Given the description of an element on the screen output the (x, y) to click on. 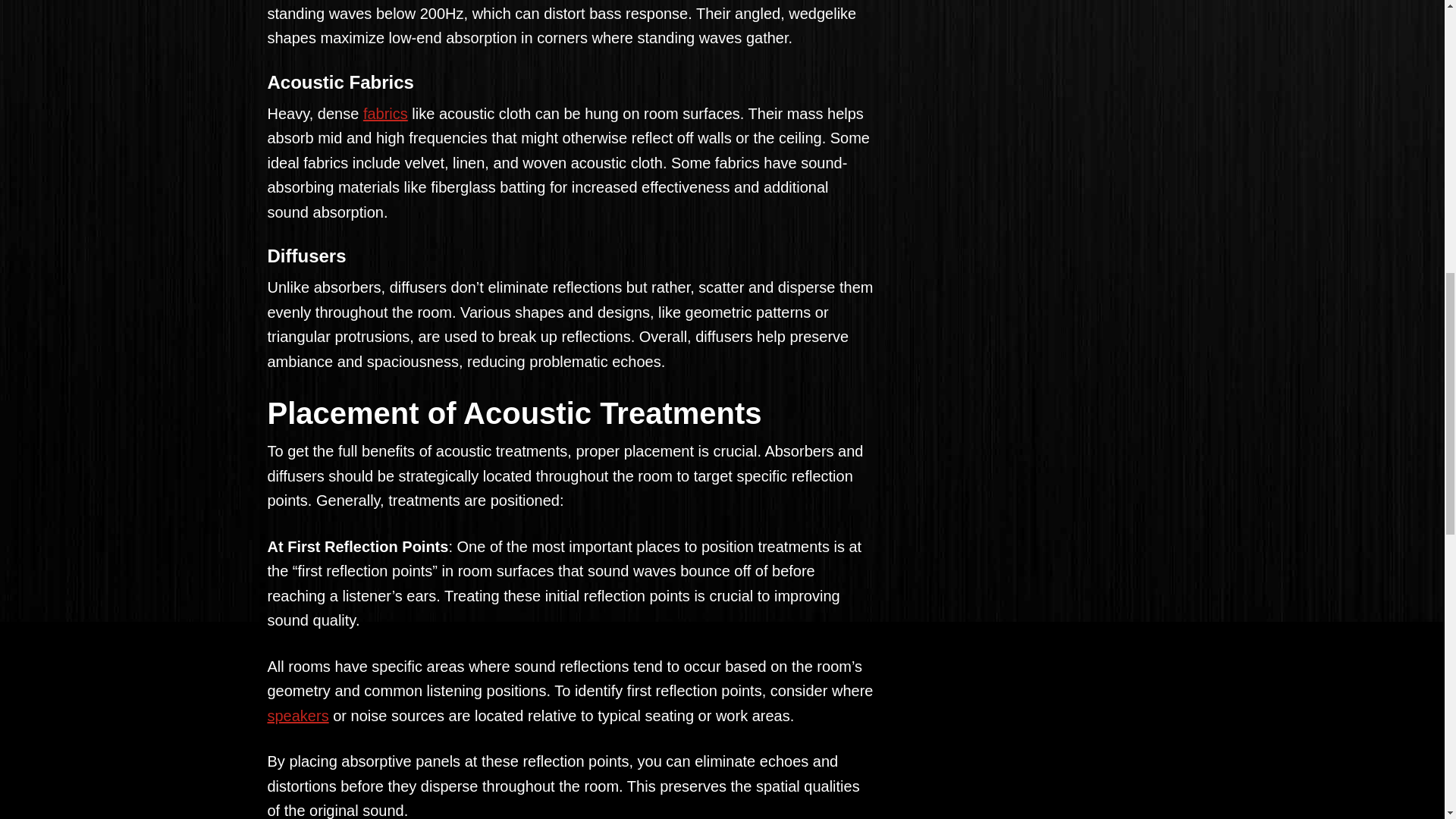
speakers (297, 715)
fabrics (384, 113)
